Given the description of an element on the screen output the (x, y) to click on. 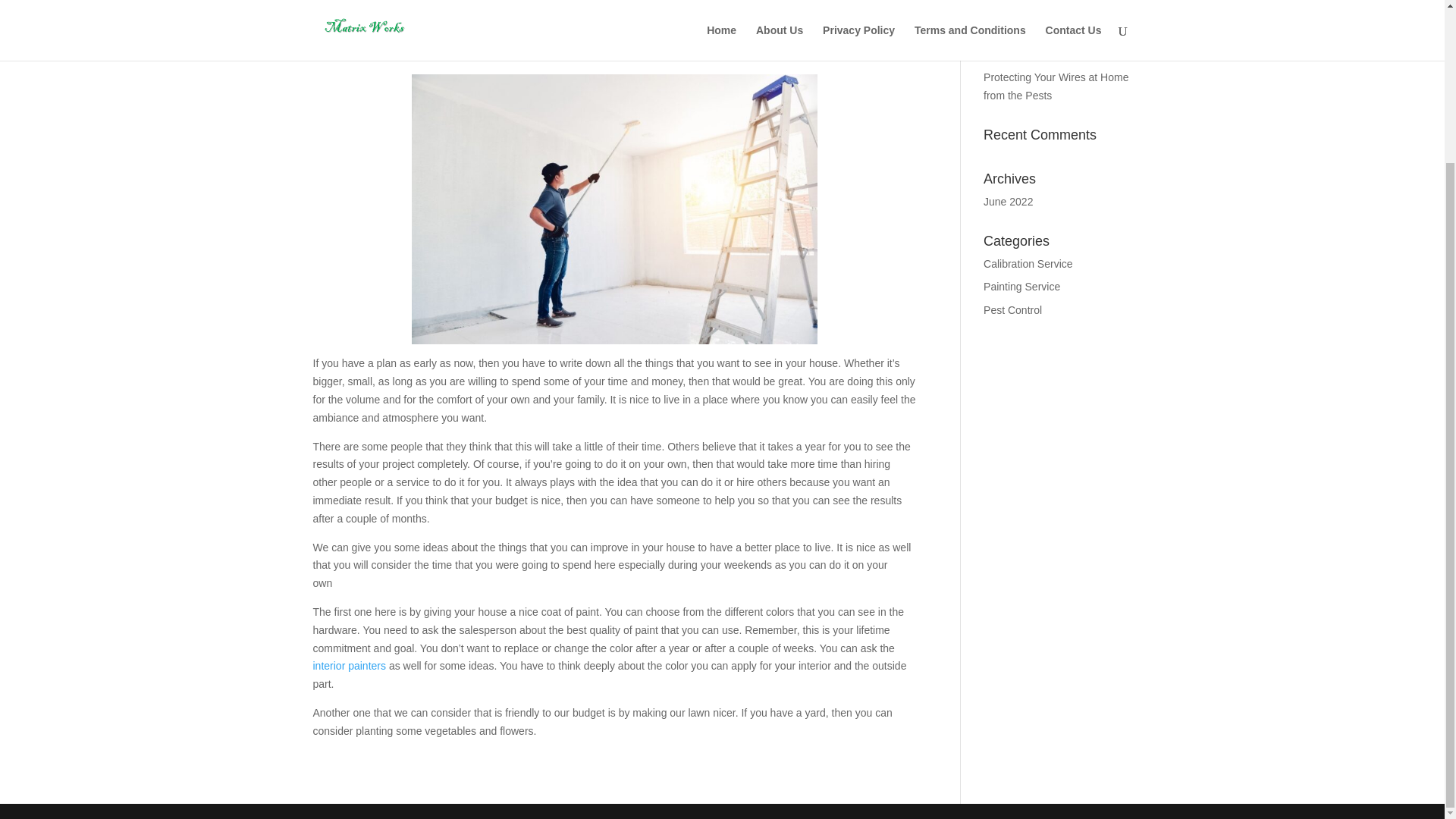
interior painters (349, 665)
Protecting Your Wires at Home from the Pests    (1056, 86)
June 2022 (1008, 201)
What Improvement Can We Make for Our Home?    (1048, 9)
Painting Service (1021, 286)
Choosing the Excellent CMM Service for Calibration    (1052, 45)
Pest Control (1013, 309)
Calibration Service (1028, 263)
